Given the description of an element on the screen output the (x, y) to click on. 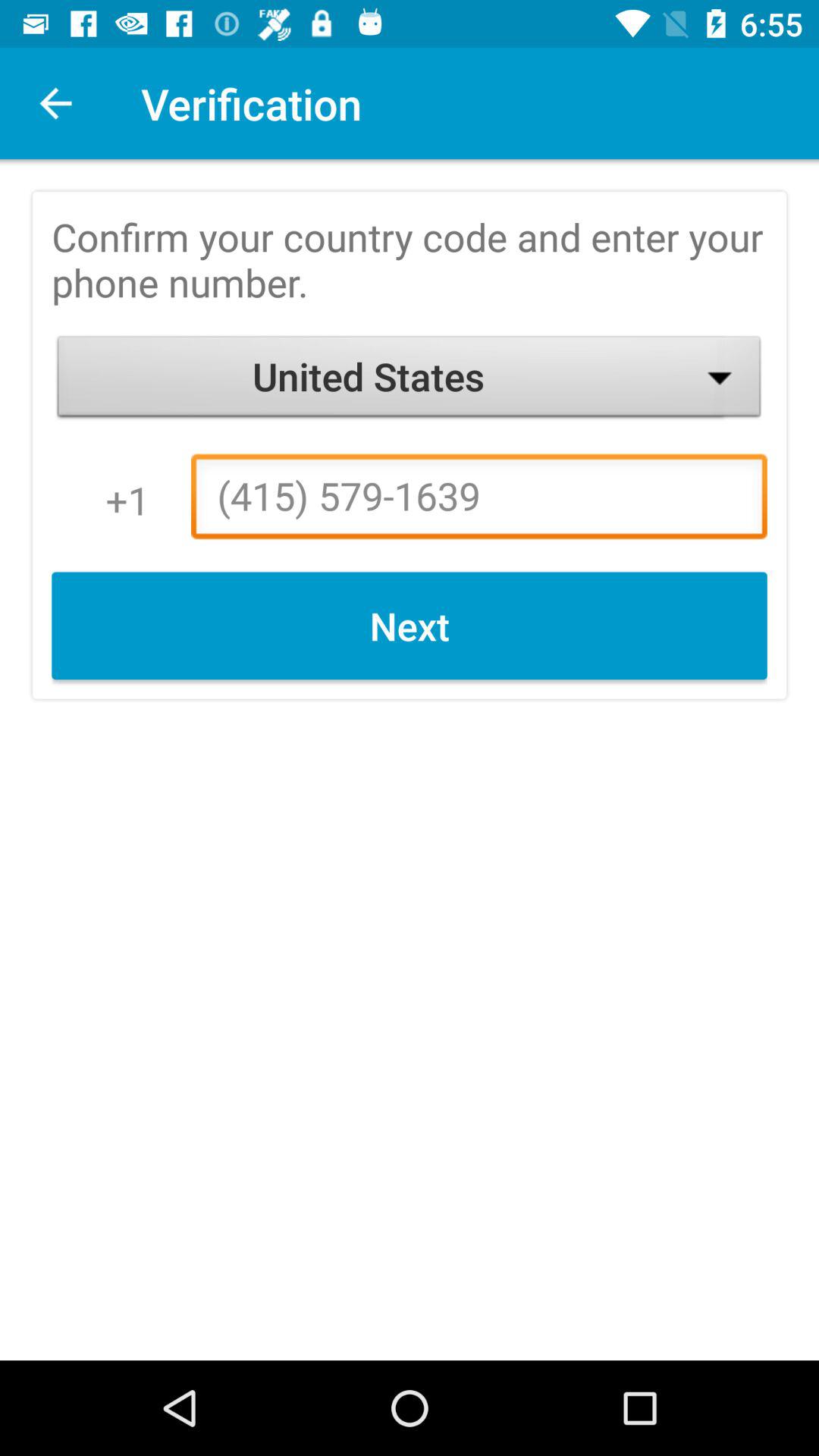
turn on icon to the right of 1 (479, 500)
